Given the description of an element on the screen output the (x, y) to click on. 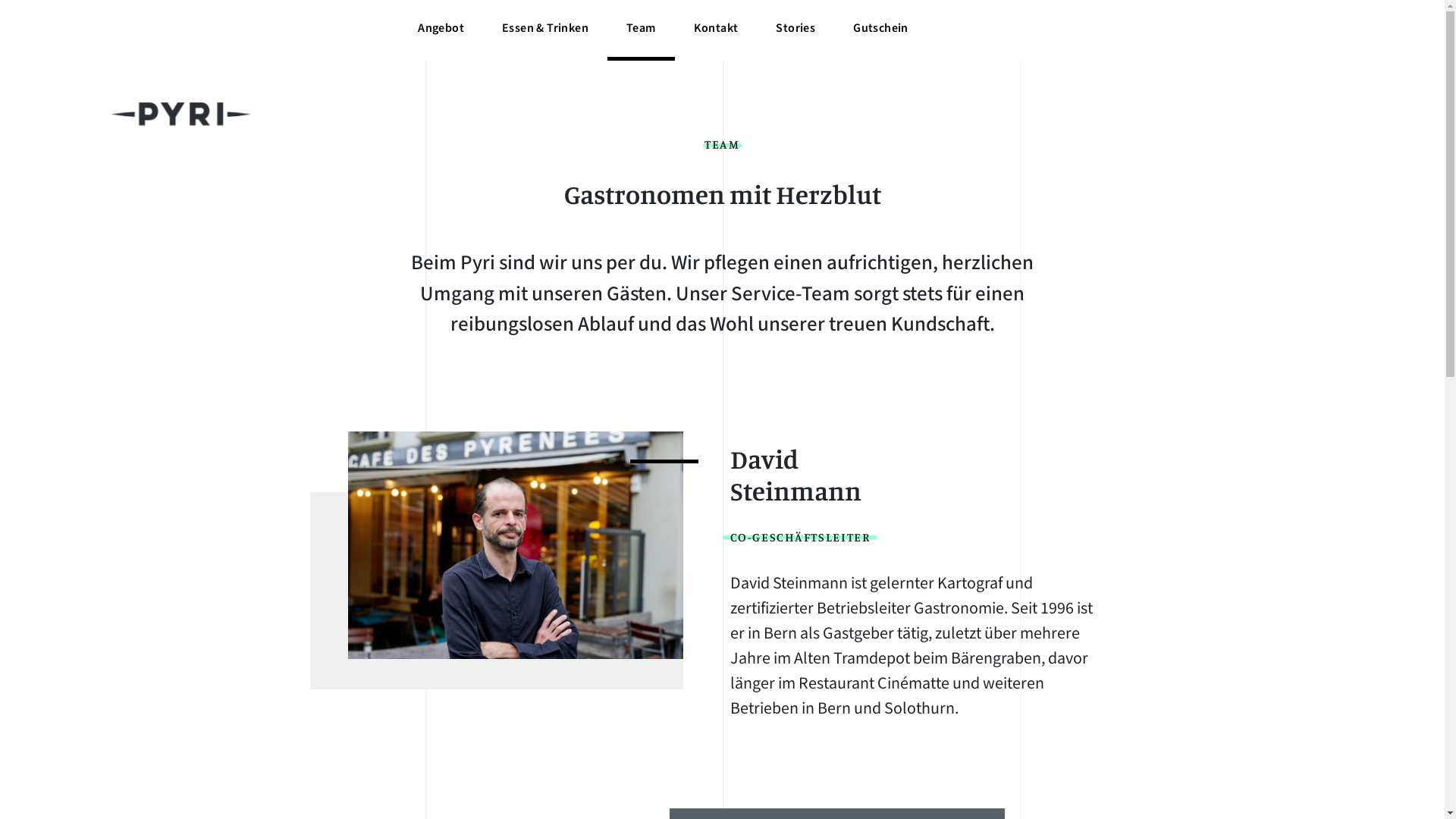
Team Element type: text (640, 30)
Gutschein Element type: text (880, 30)
Stories Element type: text (795, 30)
Angebot Element type: text (440, 30)
Essen & Trinken Element type: text (545, 30)
Kontakt Element type: text (715, 30)
